Given the description of an element on the screen output the (x, y) to click on. 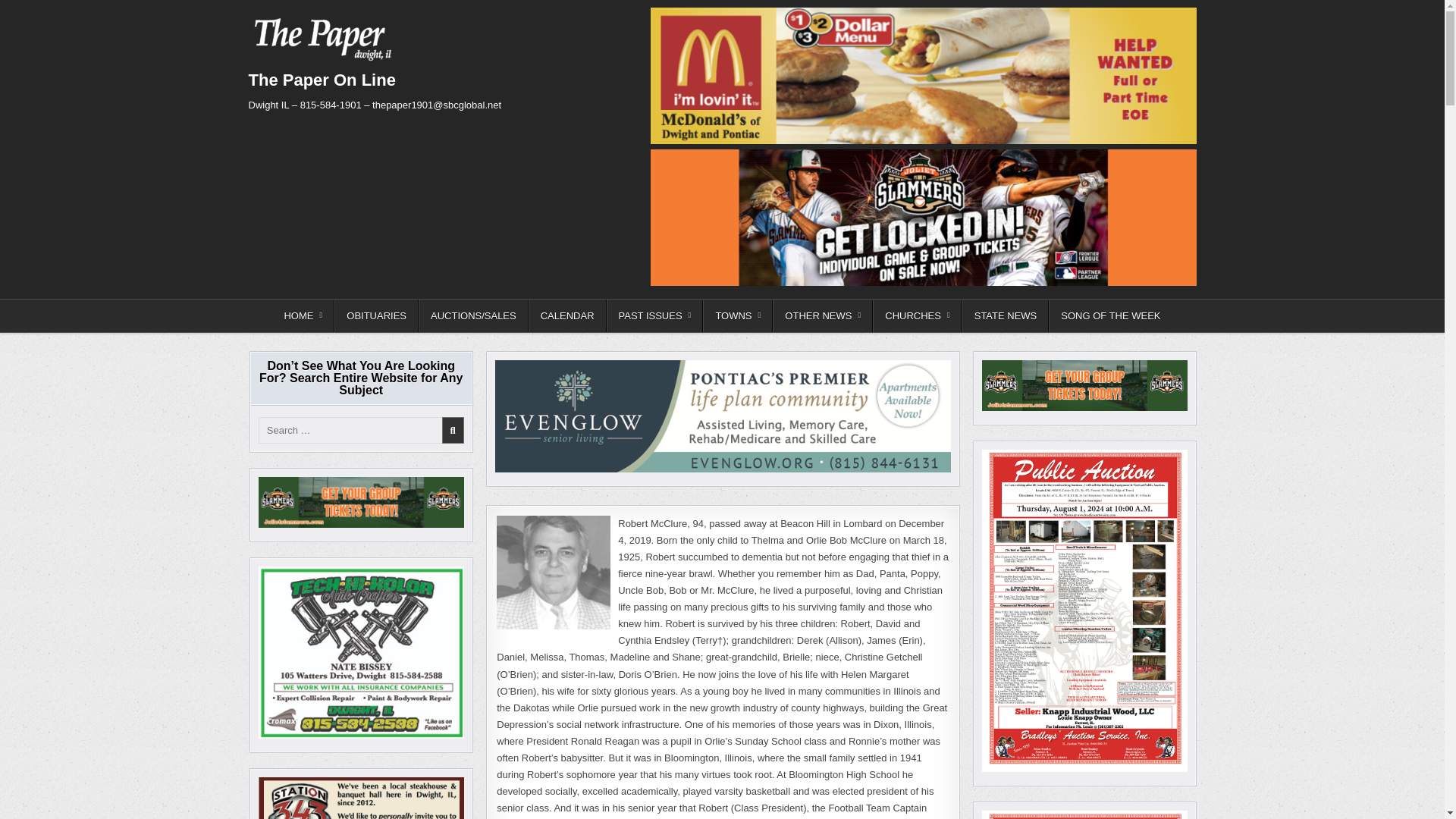
OBITUARIES (376, 315)
HOME (303, 315)
The Paper On Line (322, 79)
TOWNS (738, 315)
OTHER NEWS (822, 315)
PAST ISSUES (655, 315)
CALENDAR (567, 315)
CHURCHES (916, 315)
